Given the description of an element on the screen output the (x, y) to click on. 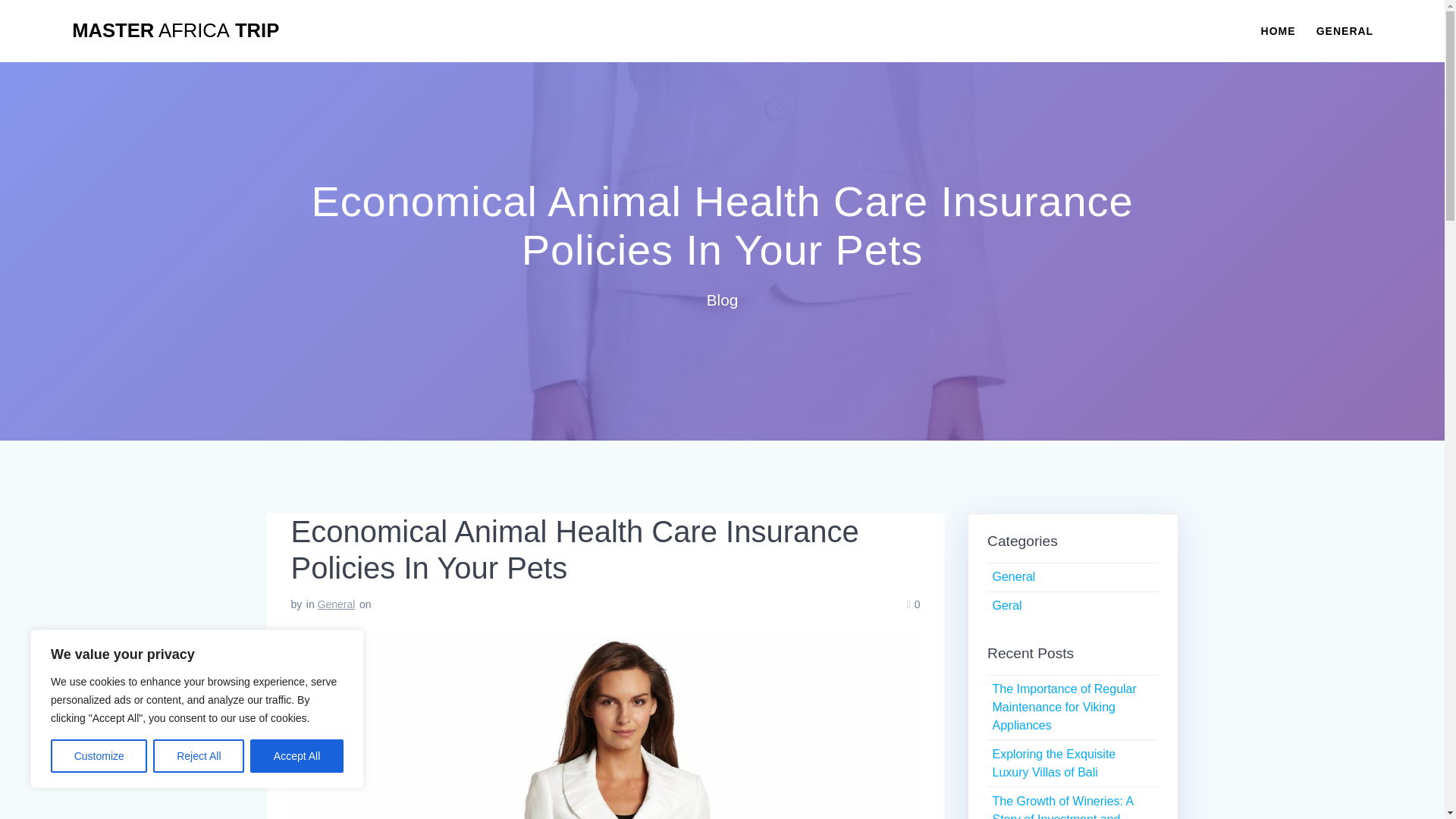
General (336, 604)
Geral (1006, 604)
The Growth of Wineries: A Story of Investment and Return (1061, 806)
HOME (1277, 30)
Accept All (296, 756)
General (1013, 576)
Customize (98, 756)
Exploring the Exquisite Luxury Villas of Bali (1053, 762)
MASTER AFRICA TRIP (175, 30)
The Importance of Regular Maintenance for Viking Appliances (1063, 707)
